Given the description of an element on the screen output the (x, y) to click on. 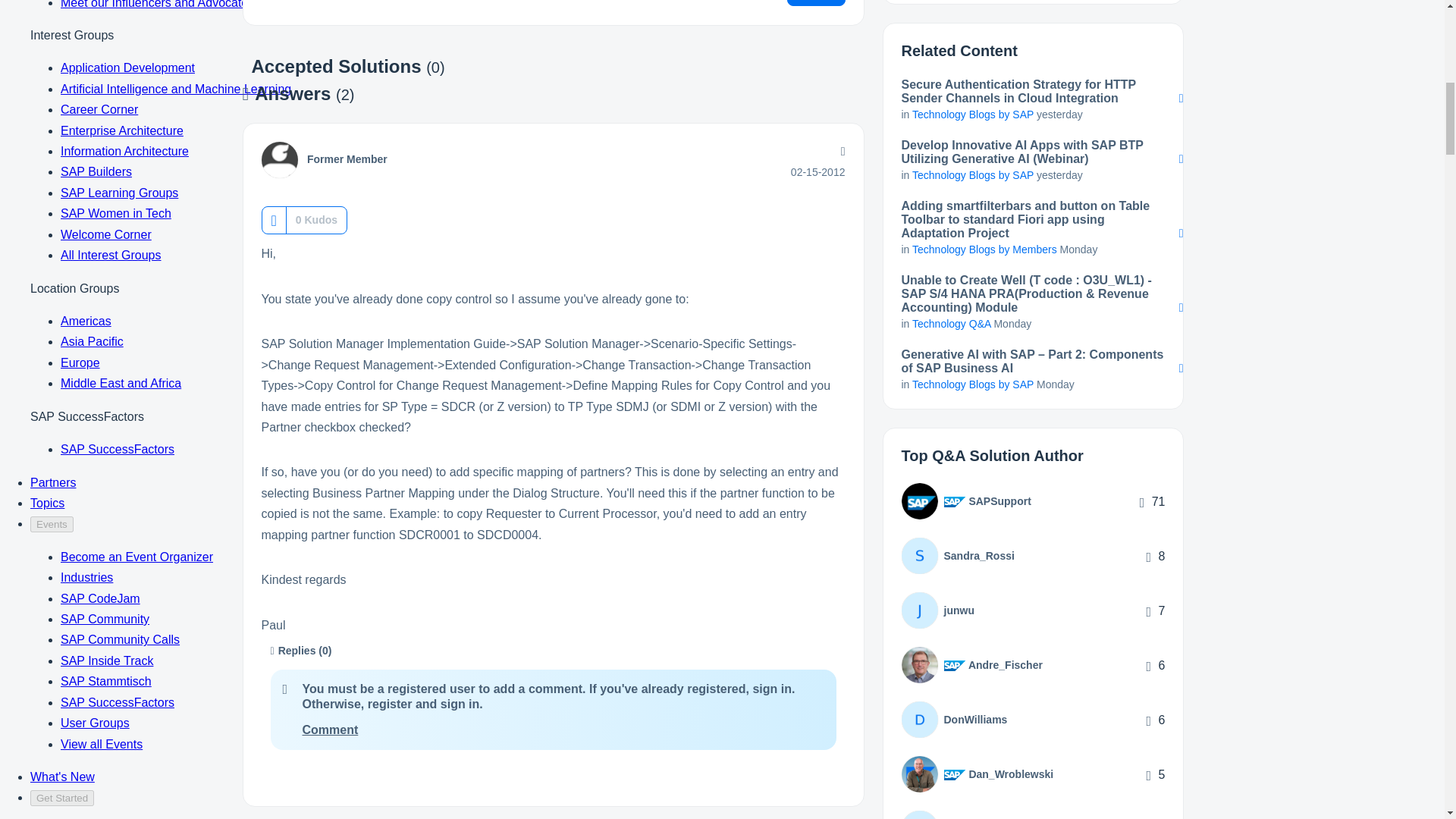
Answer (816, 2)
Comment (329, 729)
Posted on (817, 172)
